Given the description of an element on the screen output the (x, y) to click on. 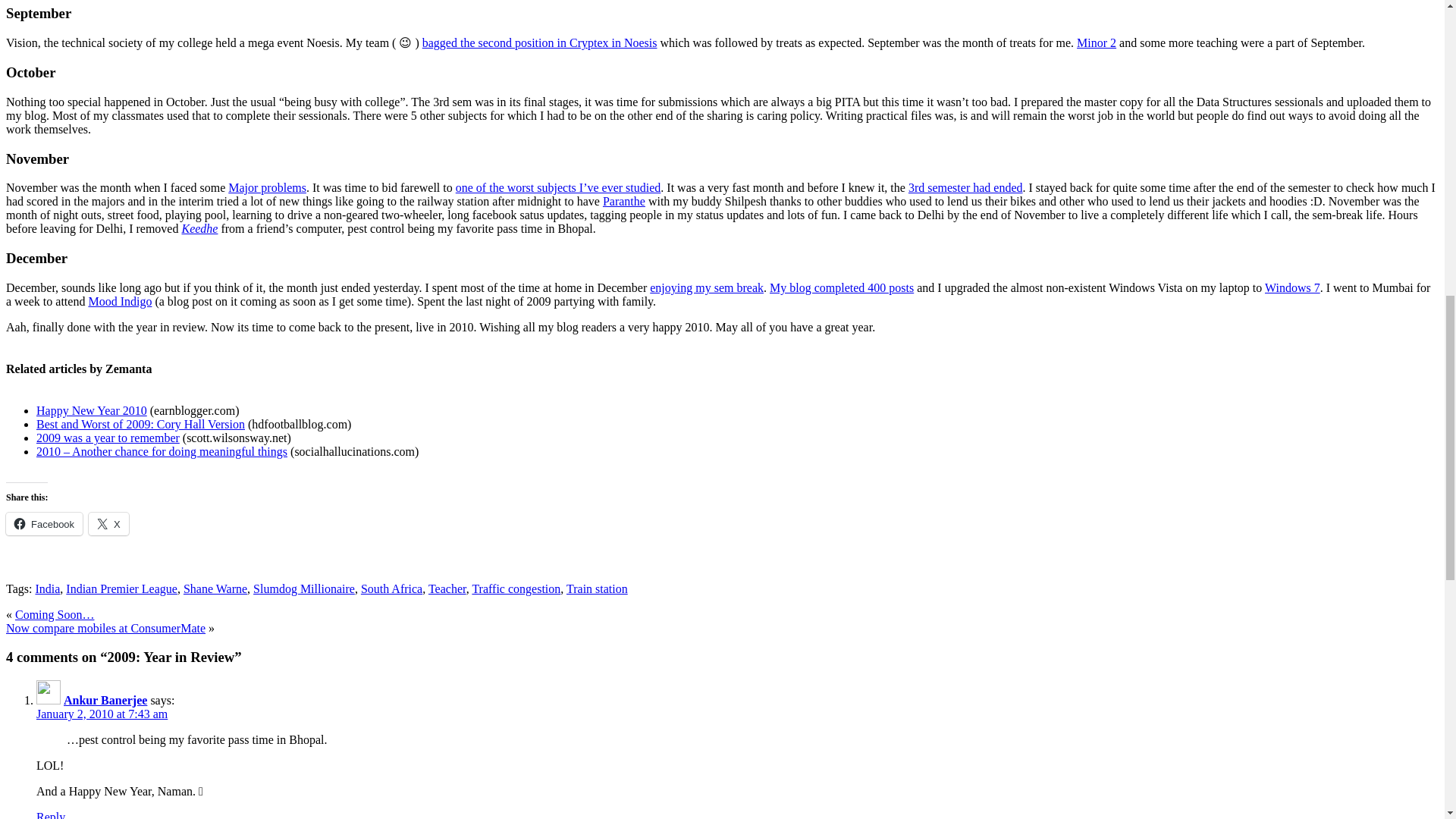
bagged the second position in Cryptex in Noesis (540, 42)
Click to share on X (108, 523)
Click to share on Facebook (43, 523)
Minor 2 (1096, 42)
